Given the description of an element on the screen output the (x, y) to click on. 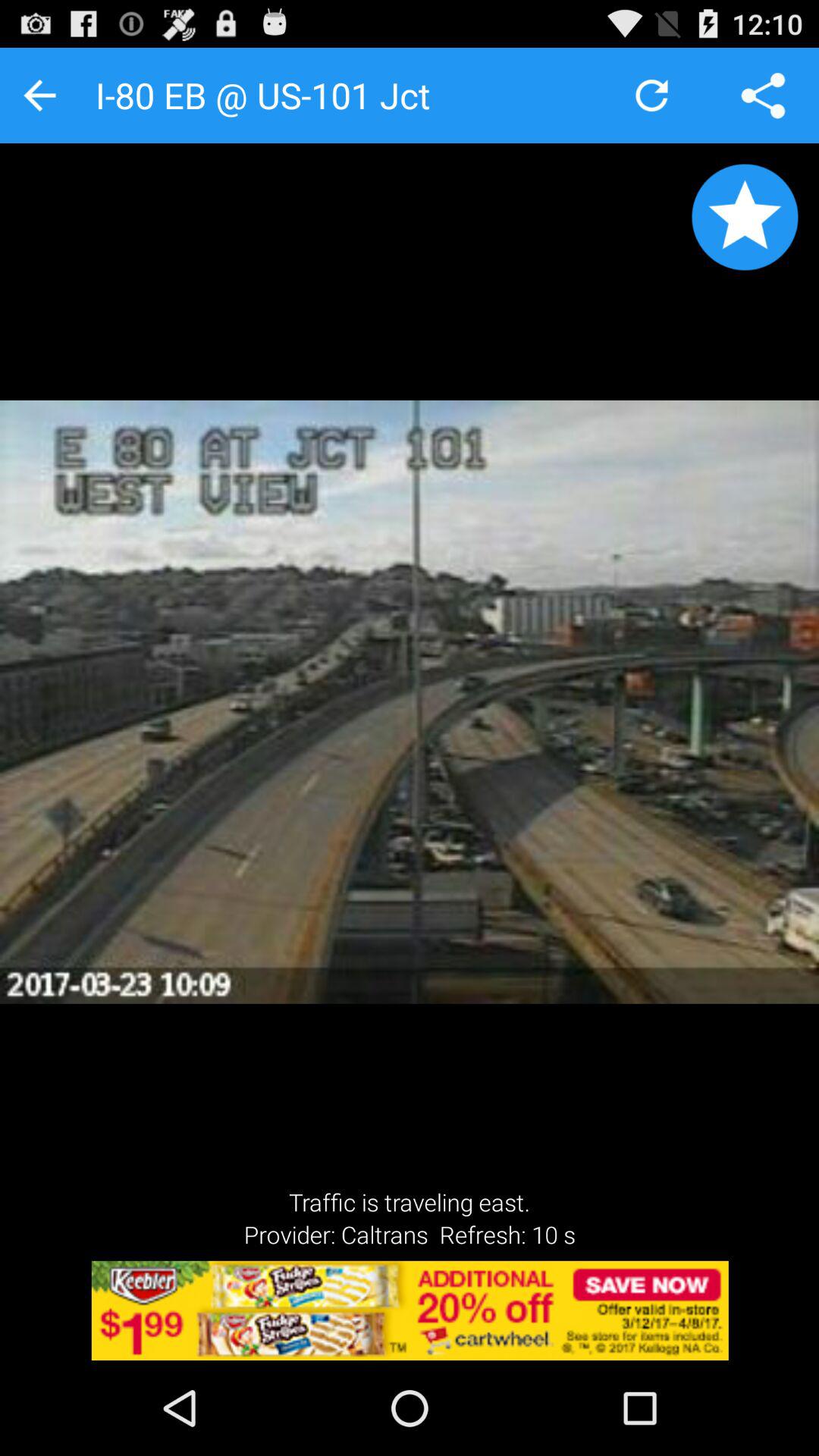
select this advertisement (409, 1310)
